Given the description of an element on the screen output the (x, y) to click on. 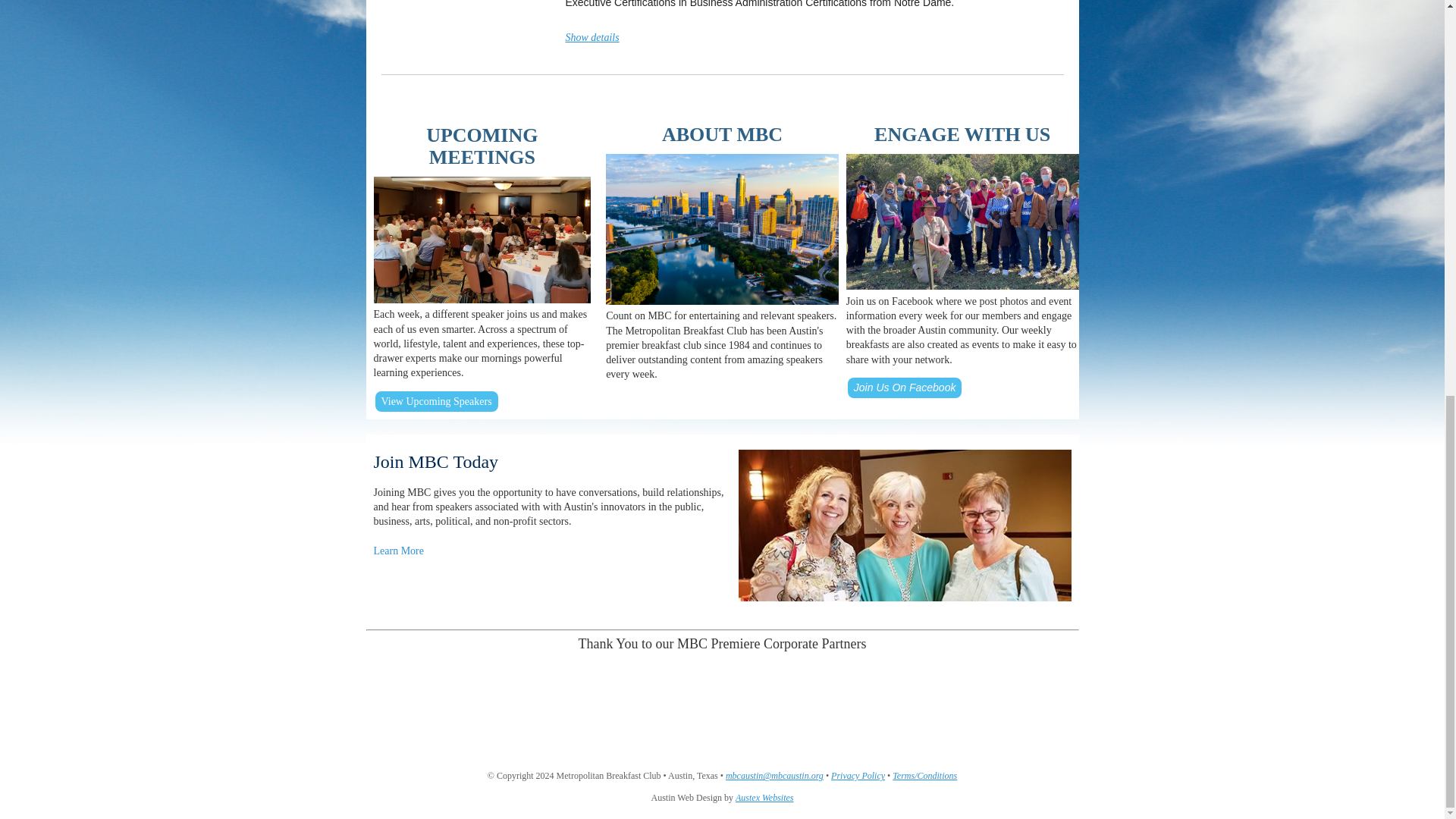
View Upcoming Speakers (436, 401)
Join Us On Facebook (904, 387)
Privacy Policy (858, 775)
Learn More (397, 550)
Austex Websites (764, 797)
Show details (593, 37)
